Given the description of an element on the screen output the (x, y) to click on. 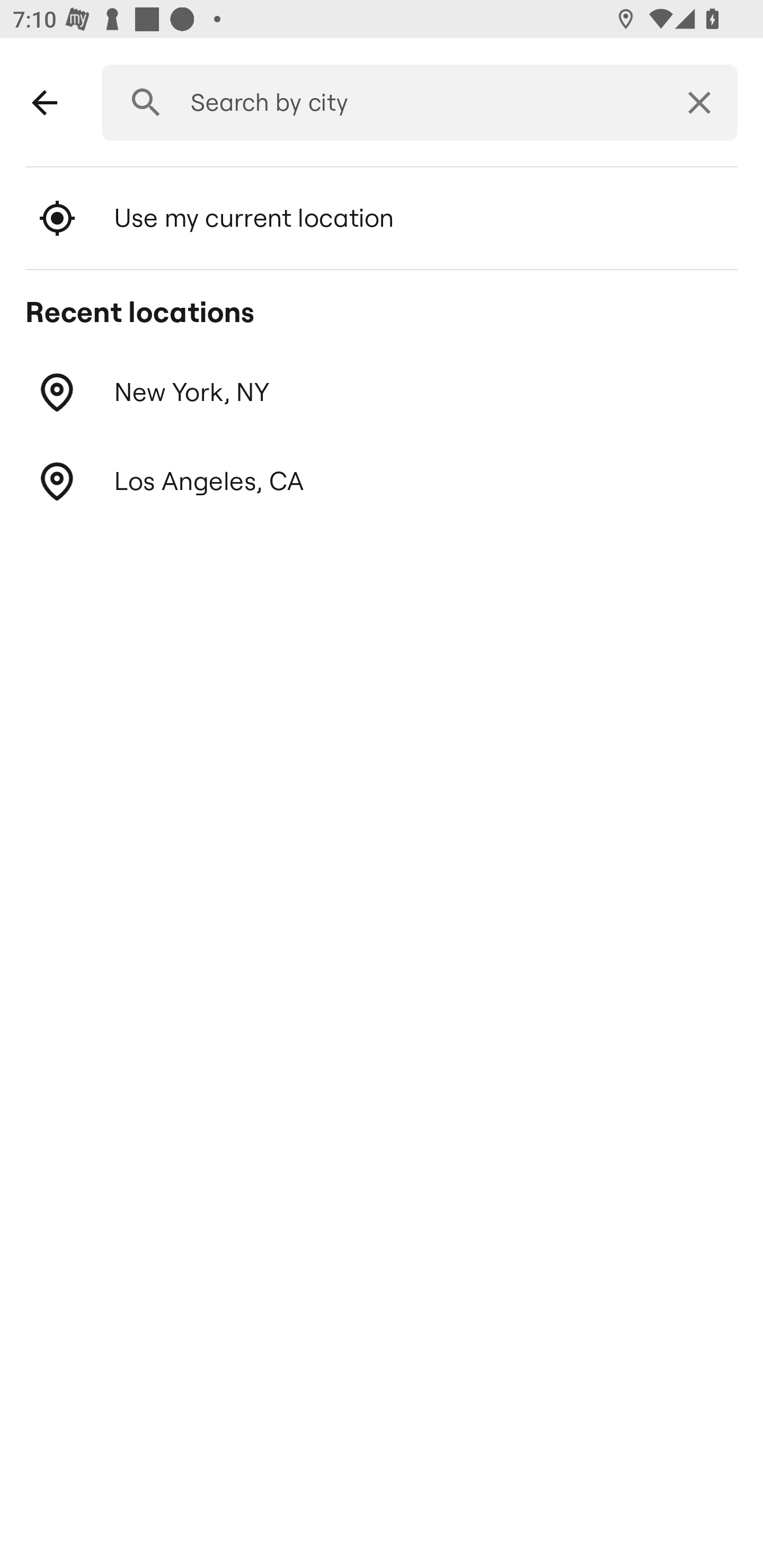
Back (44, 102)
Search by city (413, 102)
Clear (699, 102)
Use my current location (381, 218)
New York, NY (381, 392)
Los Angeles, CA (381, 481)
